Given the description of an element on the screen output the (x, y) to click on. 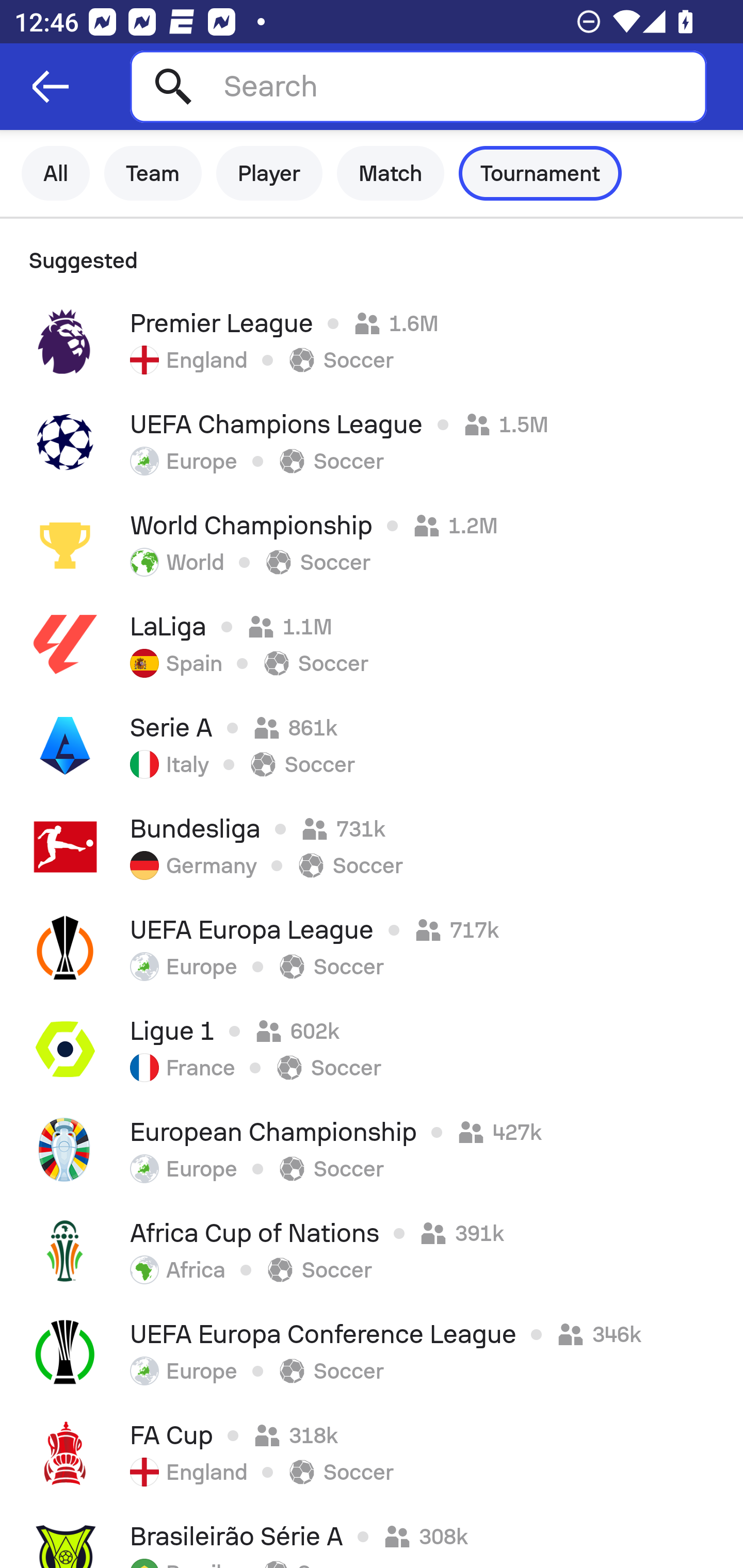
Navigate up (50, 86)
Search (418, 86)
All (55, 172)
Team (152, 172)
Player (268, 172)
Match (390, 172)
Tournament (540, 172)
Suggested (371, 254)
Premier League 1.6M England Soccer (371, 341)
UEFA Champions League 1.5M Europe Soccer (371, 442)
World Championship 1.2M World Soccer (371, 543)
LaLiga 1.1M Spain Soccer (371, 644)
Serie A 861k Italy Soccer (371, 745)
Bundesliga 731k Germany Soccer (371, 846)
UEFA Europa League 717k Europe Soccer (371, 947)
Ligue 1 602k France Soccer (371, 1048)
European Championship 427k Europe Soccer (371, 1150)
Africa Cup of Nations 391k Africa Soccer (371, 1251)
UEFA Europa Conference League 346k Europe Soccer (371, 1352)
FA Cup 318k England Soccer (371, 1453)
Brasileirão Série A 308k Brazil Soccer (371, 1535)
